Given the description of an element on the screen output the (x, y) to click on. 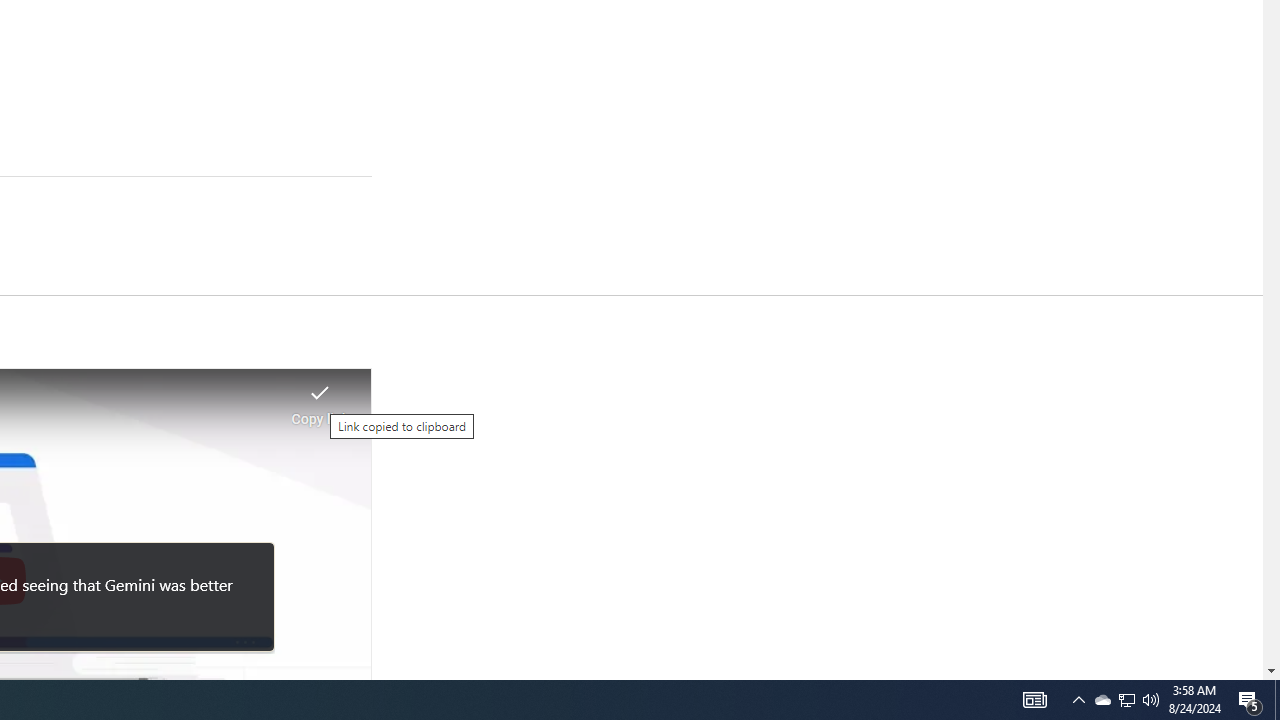
Link copied to clipboard (319, 398)
